Given the description of an element on the screen output the (x, y) to click on. 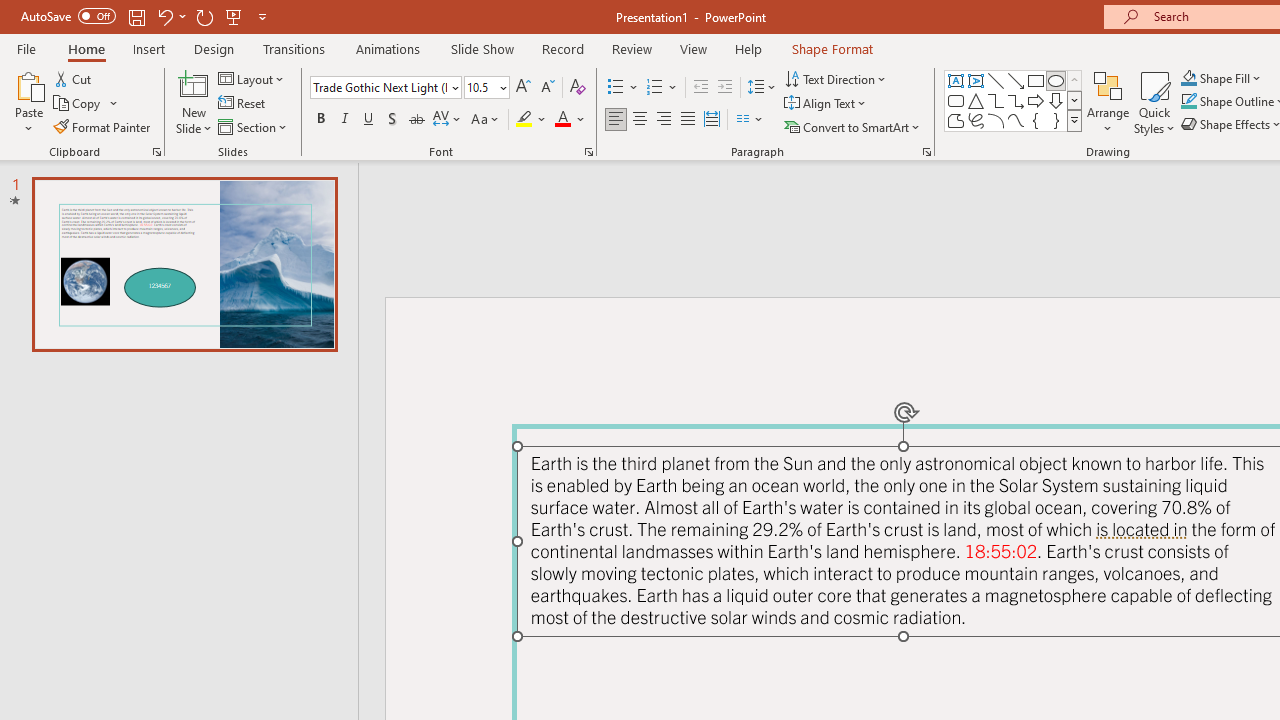
Font (385, 87)
Strikethrough (416, 119)
Freeform: Scribble (975, 120)
Underline (369, 119)
Transitions (294, 48)
Font Color Red (562, 119)
Font Size (480, 87)
Distributed (712, 119)
Change Case (486, 119)
Slide Show (481, 48)
Shape Format (832, 48)
Copy (78, 103)
File Tab (26, 48)
Shapes (1074, 120)
Record (562, 48)
